Given the description of an element on the screen output the (x, y) to click on. 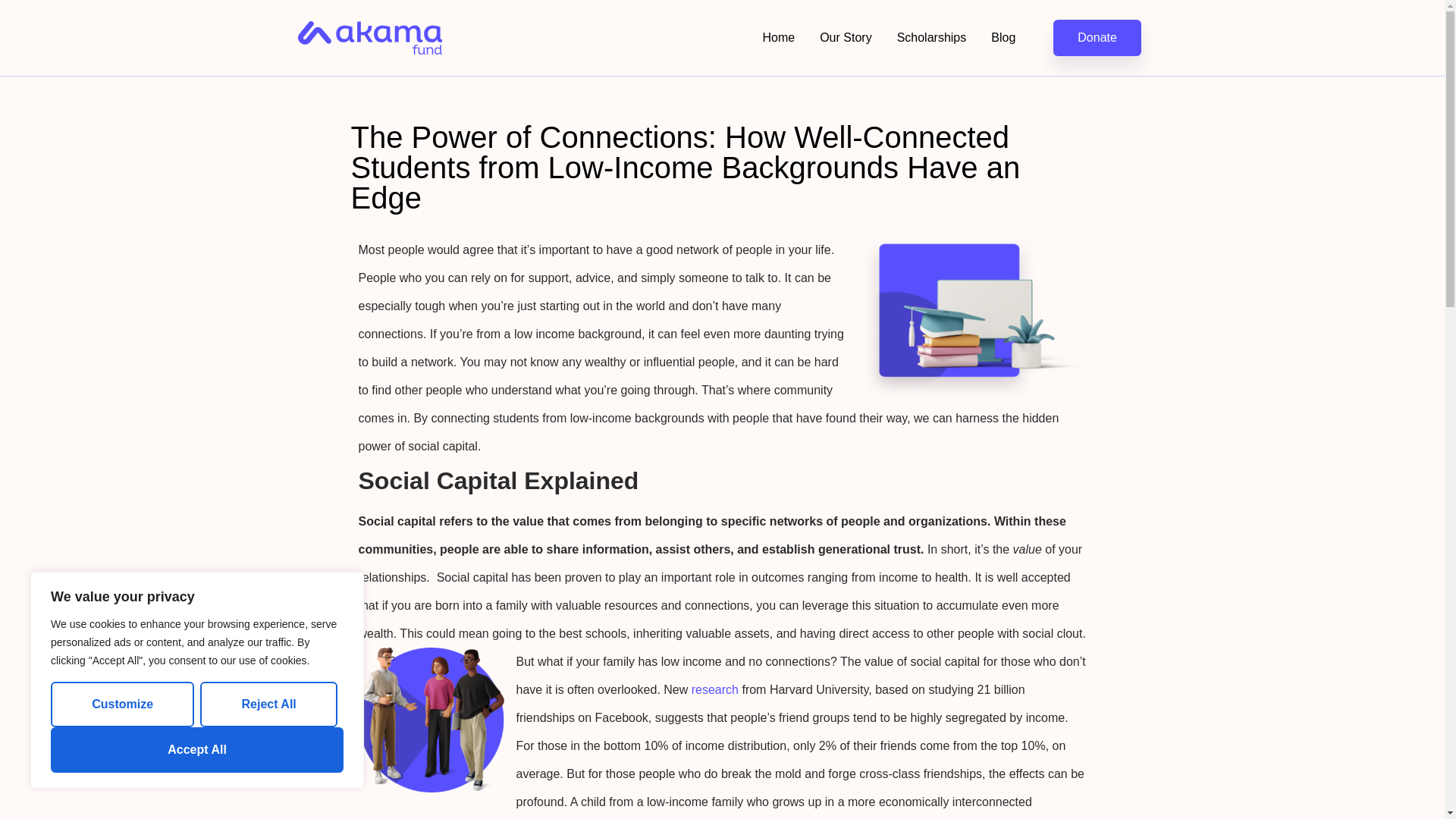
Customize (121, 704)
Home (777, 37)
Scholarships (931, 37)
research (714, 689)
Donate (1096, 37)
Accept All (196, 750)
Our Story (844, 37)
Reject All (268, 704)
